Given the description of an element on the screen output the (x, y) to click on. 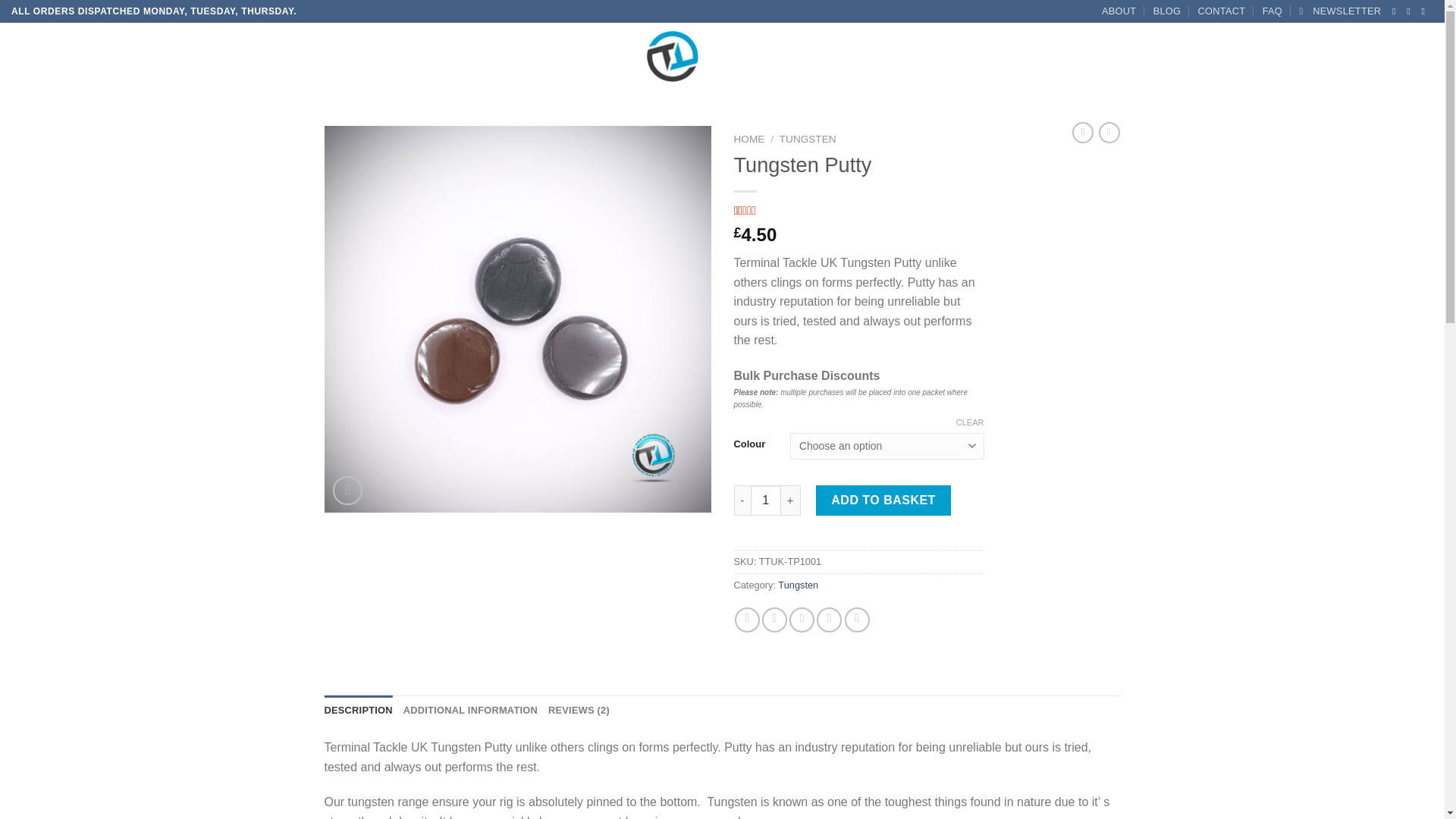
Zoom (347, 490)
WISHLIST (240, 55)
NEWSLETTER (1339, 11)
Qty (765, 500)
SHOP TERMINAL TACKLE (140, 55)
Sign up for our Newsletter (1339, 11)
TUNGSTEN (806, 138)
CONTACT (1222, 11)
1 (765, 500)
ABOUT (1118, 11)
BLOG (1166, 11)
HOME (47, 55)
HOME (749, 138)
Basket (1380, 55)
